Given the description of an element on the screen output the (x, y) to click on. 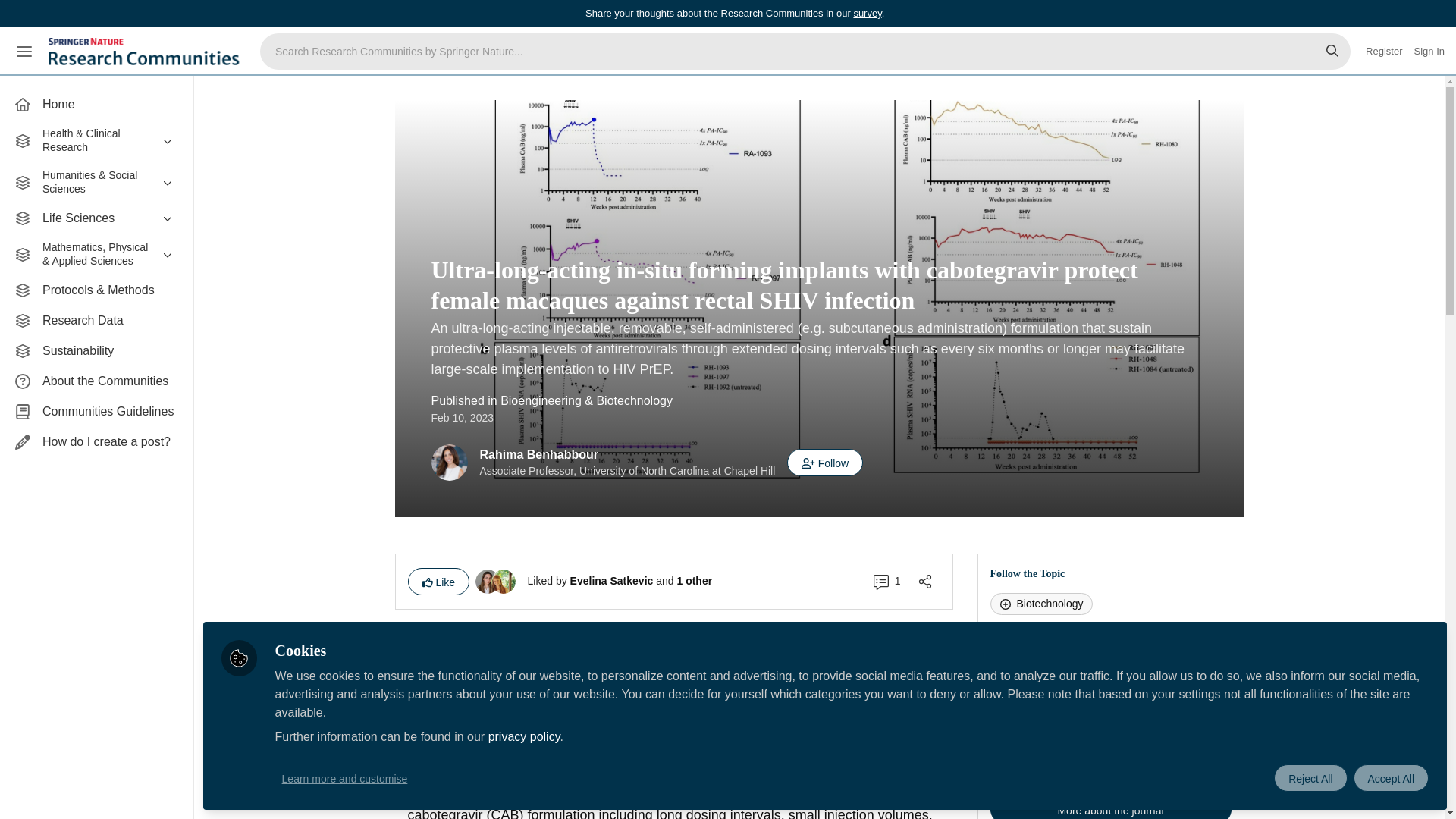
Home (96, 103)
Research Communities by Springer Nature (146, 51)
Search (1332, 51)
Life Sciences (96, 217)
Menu (24, 51)
Home (96, 103)
Life Sciences (96, 217)
survey (866, 12)
